Given the description of an element on the screen output the (x, y) to click on. 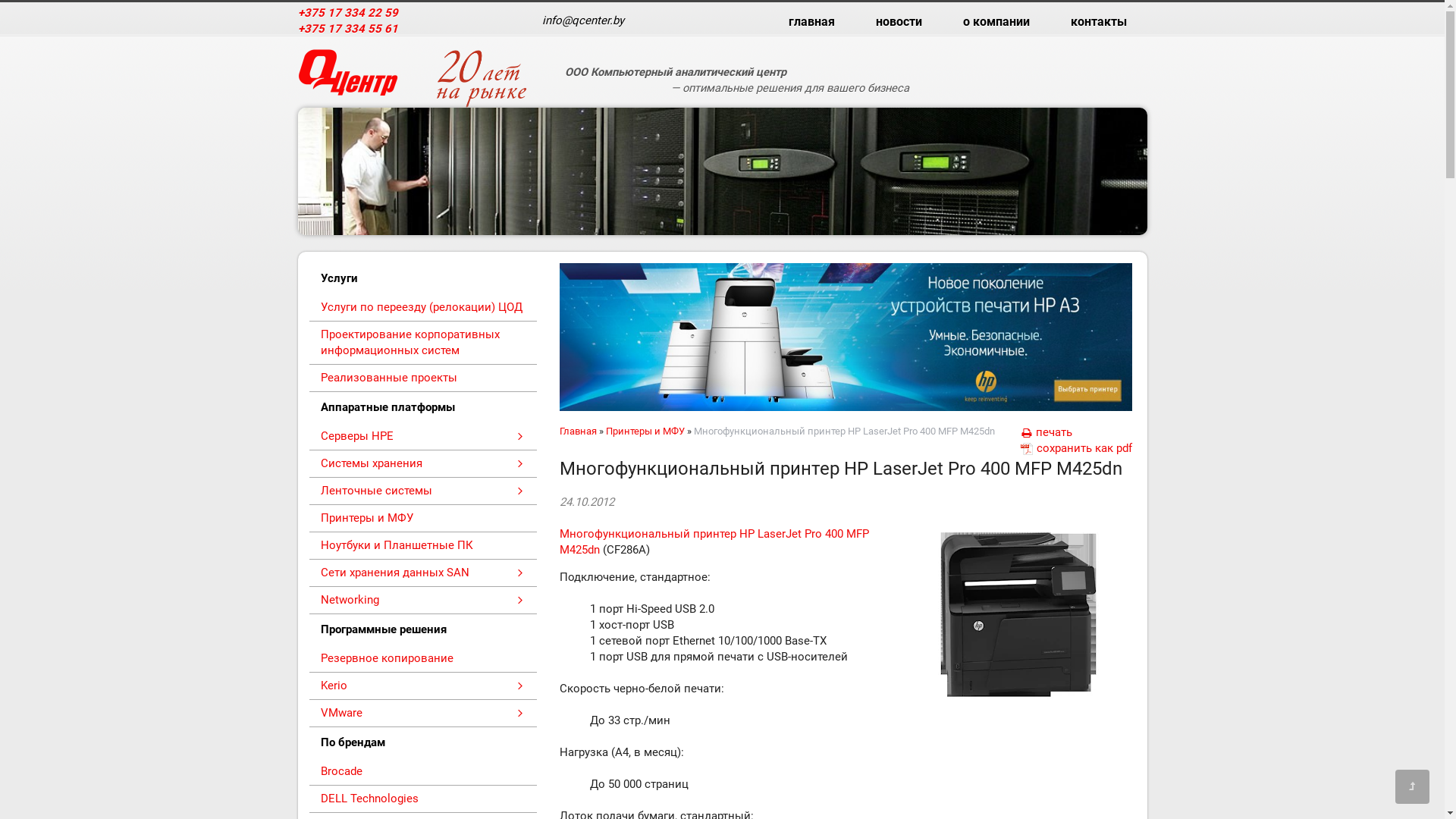
info@qcenter.by Element type: text (582, 20)
Kerio Element type: text (422, 685)
DELL Technologies Element type: text (422, 798)
+375 17 334 22 59 Element type: text (347, 13)
Networking Element type: text (422, 600)
+375 17 334 55 61 Element type: text (347, 29)
VMware Element type: text (422, 713)
Brocade Element type: text (422, 771)
